Given the description of an element on the screen output the (x, y) to click on. 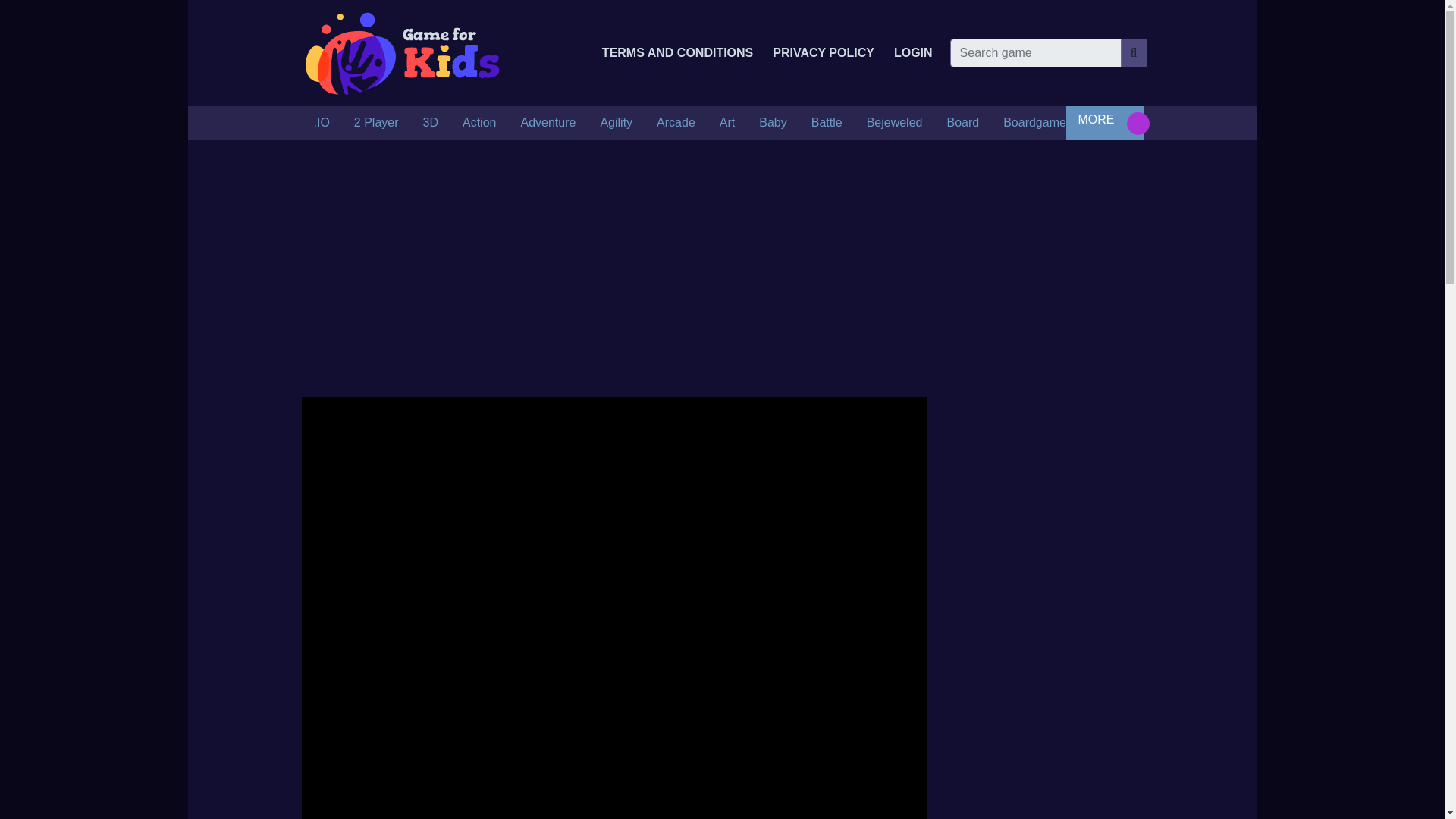
PRIVACY POLICY (823, 52)
Board (962, 122)
.IO (321, 122)
Agility (616, 122)
TERMS AND CONDITIONS (676, 52)
Boardgames (1037, 122)
Bejeweled (894, 122)
Baby (771, 122)
Arcade (676, 122)
2 Player (376, 122)
